Given the description of an element on the screen output the (x, y) to click on. 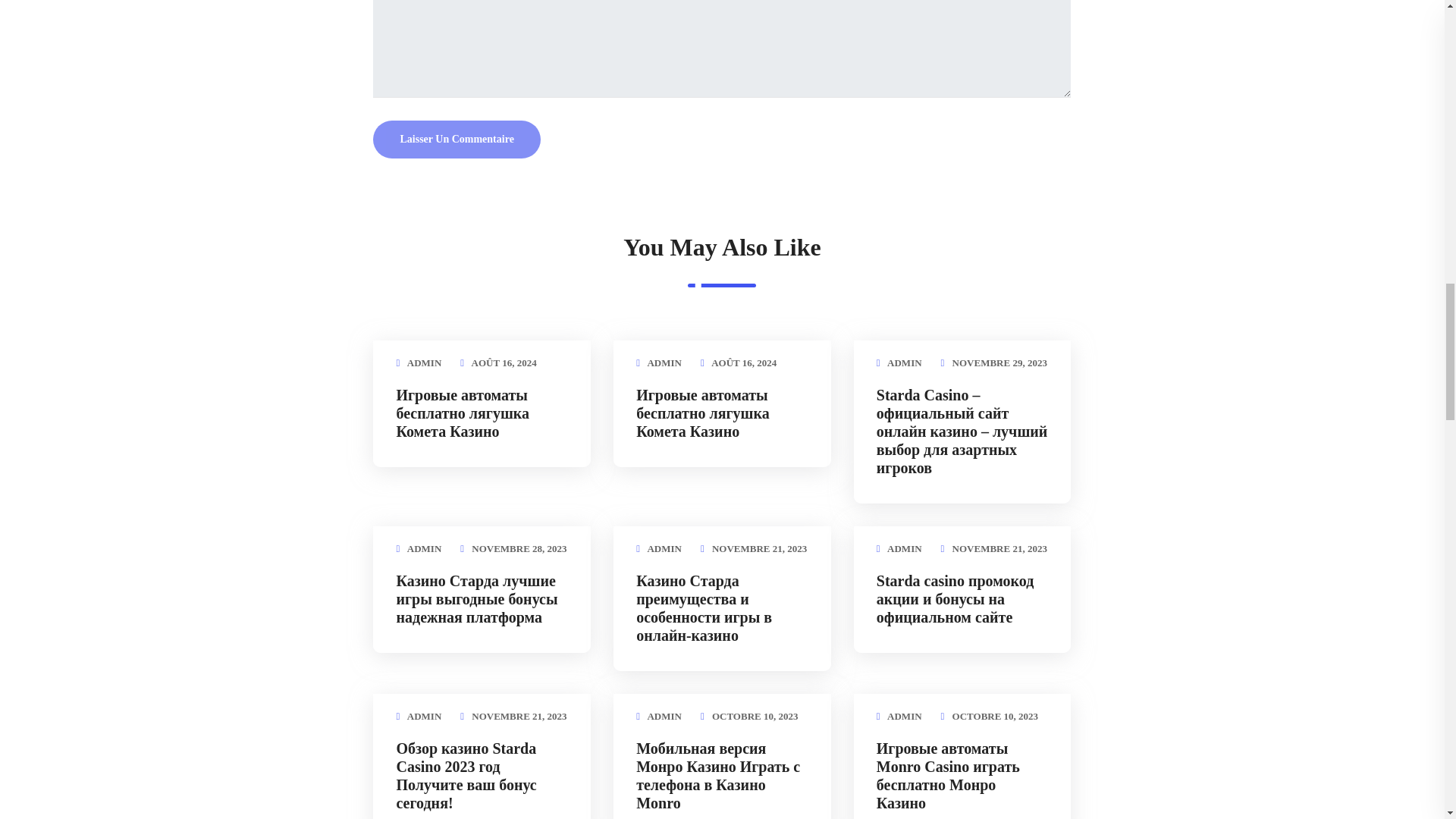
Laisser un commentaire (456, 139)
ADMIN (663, 548)
ADMIN (903, 362)
NOVEMBRE 29, 2023 (999, 362)
Laisser un commentaire (456, 139)
ADMIN (424, 548)
ADMIN (424, 362)
NOVEMBRE 28, 2023 (518, 548)
ADMIN (663, 362)
